Given the description of an element on the screen output the (x, y) to click on. 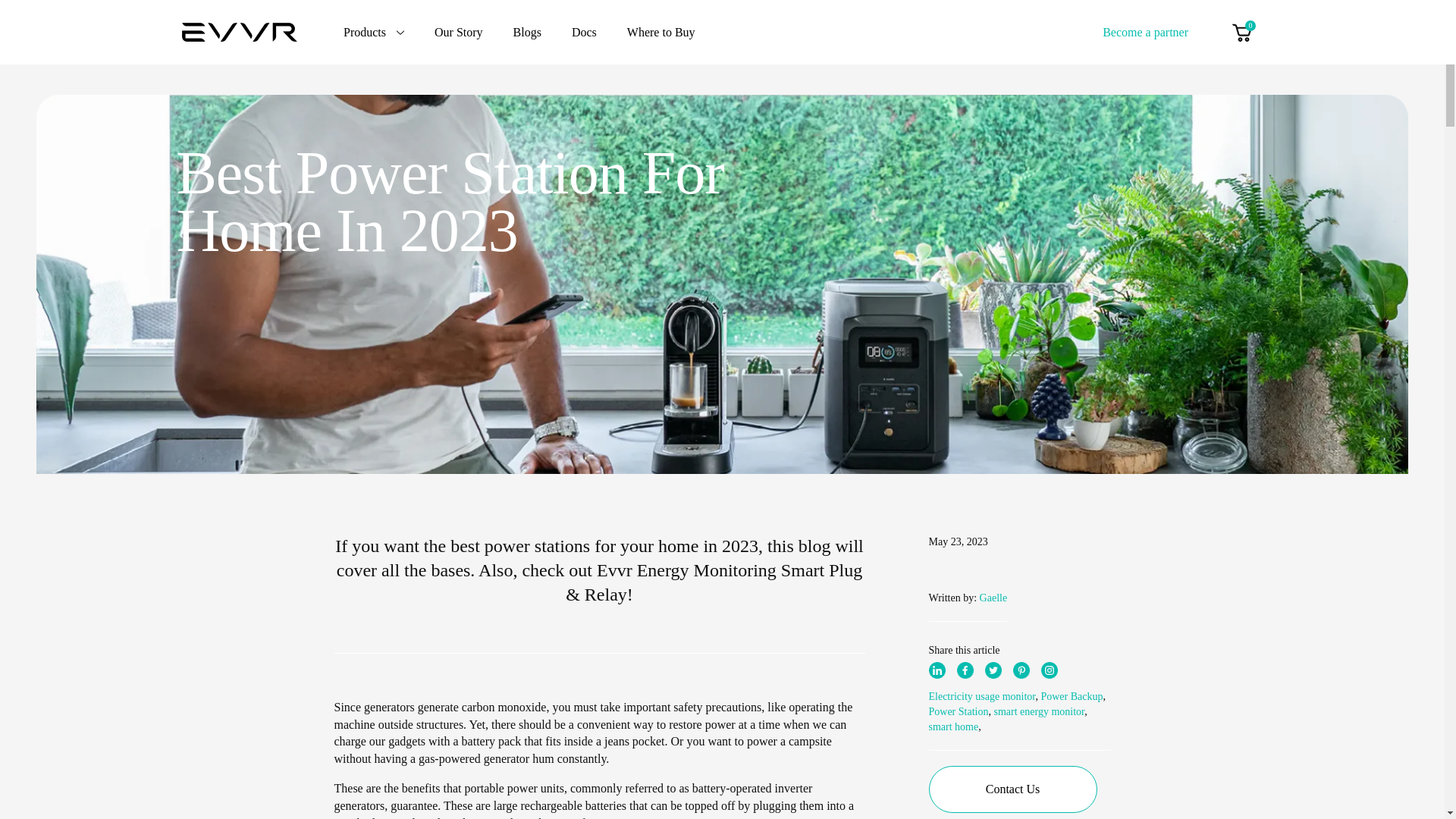
Products (373, 31)
0 (1240, 31)
Our Story (458, 31)
Docs (584, 31)
Where to Buy (661, 31)
Blogs (527, 31)
Become a partner (1144, 31)
